Given the description of an element on the screen output the (x, y) to click on. 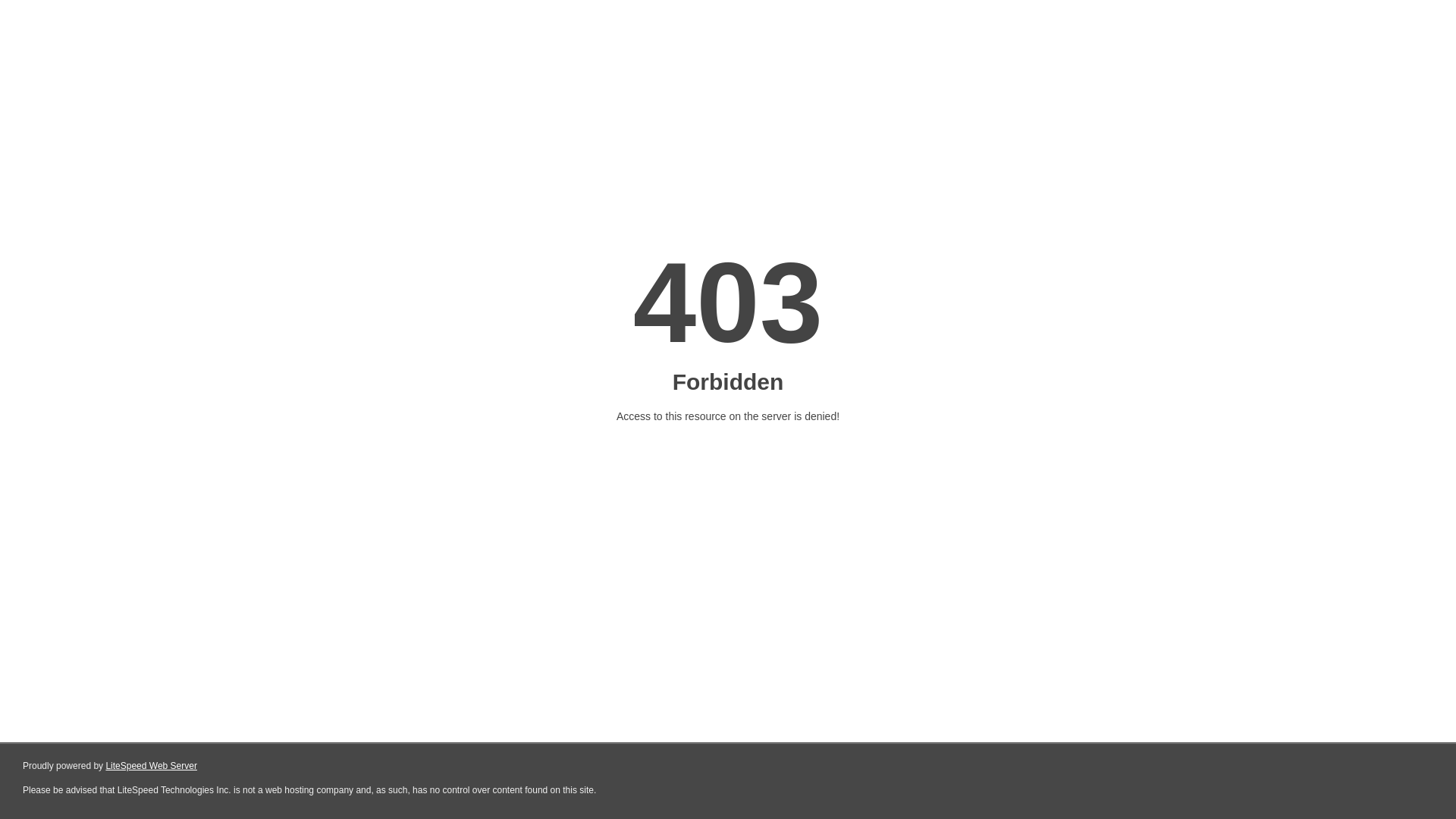
LiteSpeed Web Server Element type: text (151, 765)
